Given the description of an element on the screen output the (x, y) to click on. 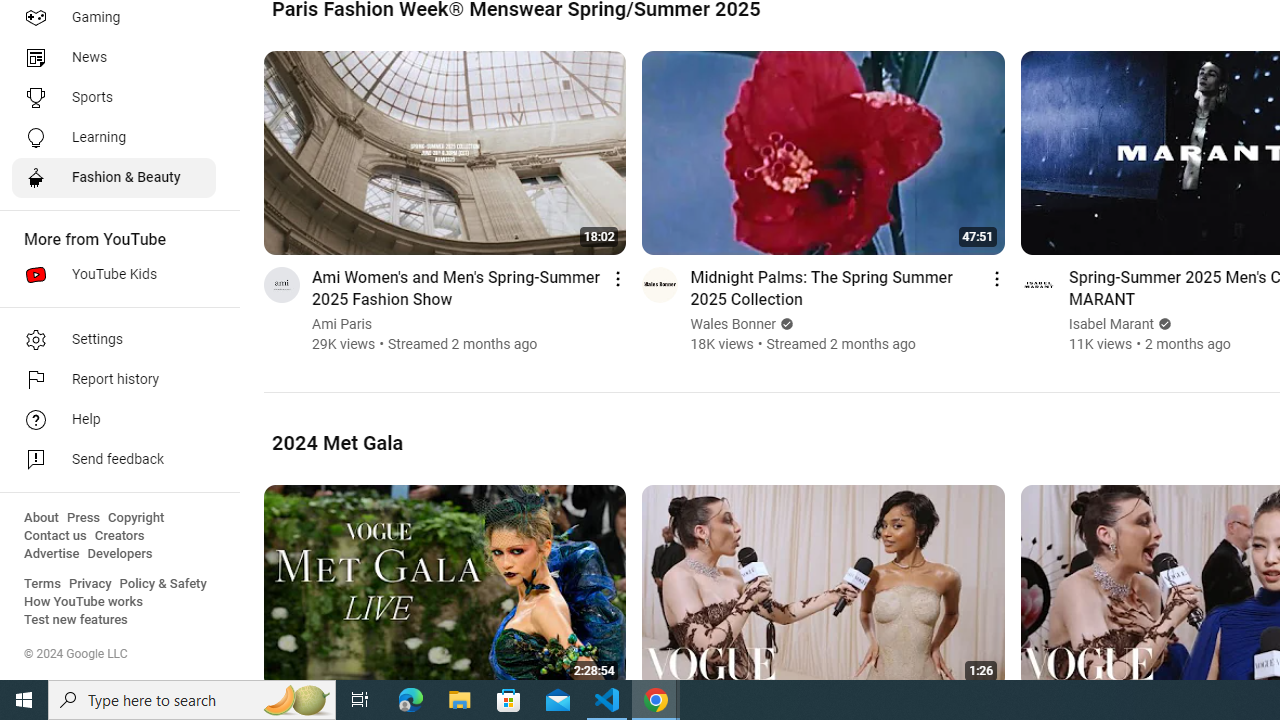
About (41, 518)
Terms (42, 584)
Advertise (51, 554)
Send feedback (113, 459)
Contact us (55, 536)
Settings (113, 339)
Fashion & Beauty (113, 177)
Creators (118, 536)
YouTube Kids (113, 274)
Sports (113, 97)
Verified (1162, 323)
Test new features (76, 620)
Ami Paris (342, 323)
